Given the description of an element on the screen output the (x, y) to click on. 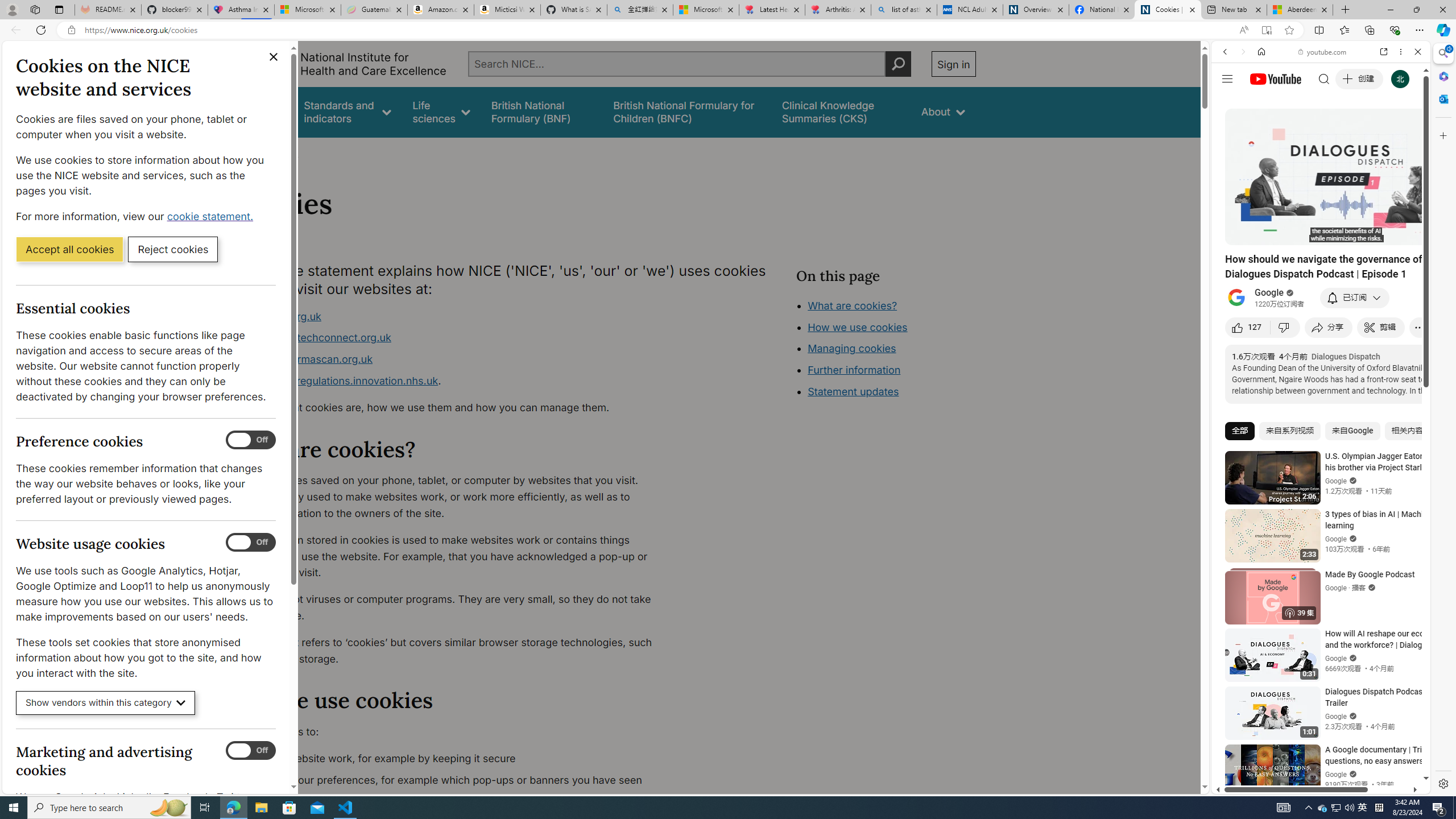
Class: ytp-subtitles-button-icon (1368, 234)
